Given the description of an element on the screen output the (x, y) to click on. 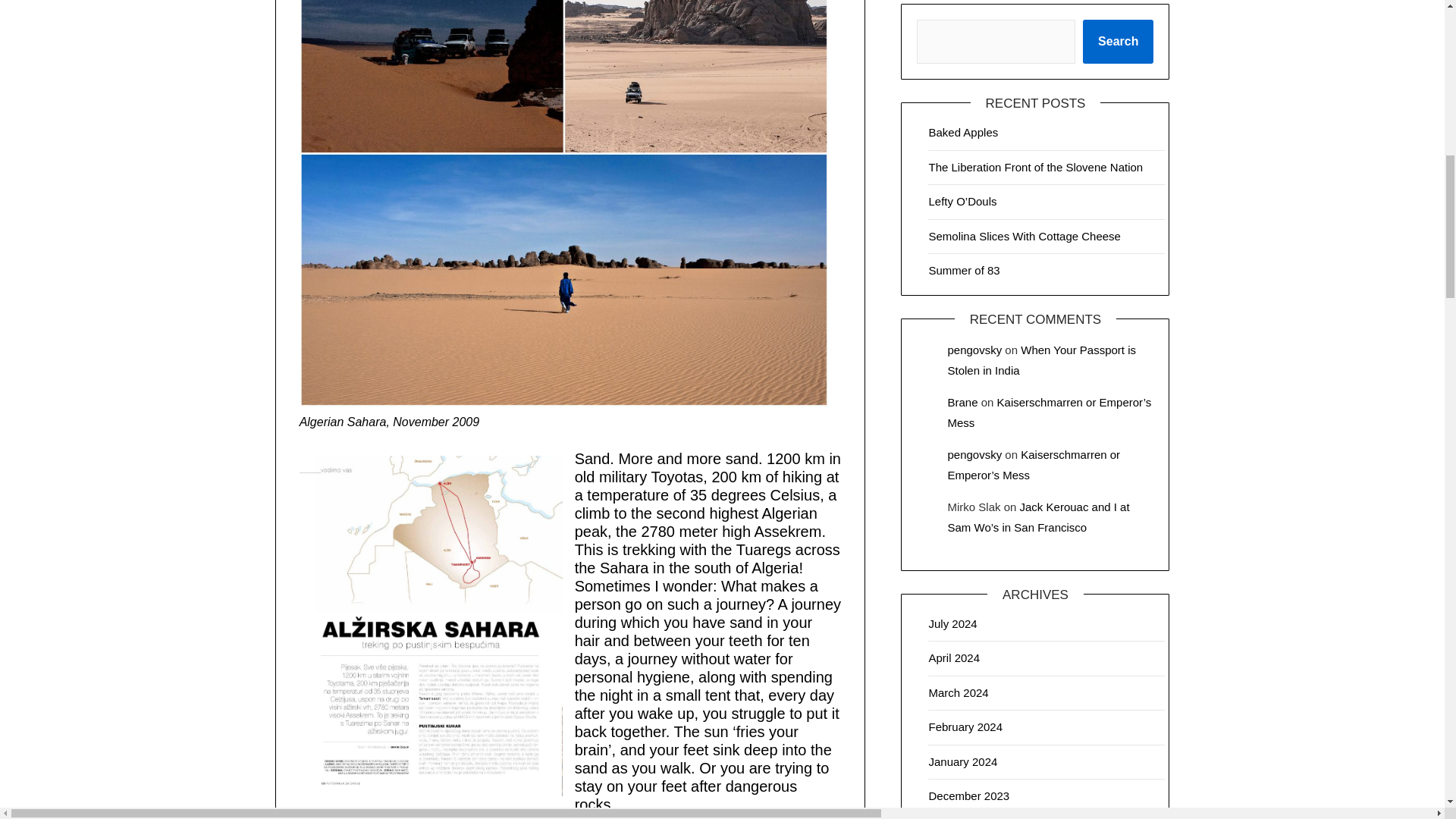
July 2024 (952, 623)
pengovsky (974, 349)
pengovsky (974, 454)
Summer of 83 (963, 269)
Search (1118, 41)
Baked Apples (962, 132)
January 2024 (962, 761)
March 2024 (958, 692)
Semolina Slices With Cottage Cheese (1023, 236)
The Liberation Front of the Slovene Nation (1035, 166)
April 2024 (953, 657)
Brane (961, 401)
February 2024 (965, 726)
December 2023 (968, 795)
When Your Passport is Stolen in India (1041, 359)
